Given the description of an element on the screen output the (x, y) to click on. 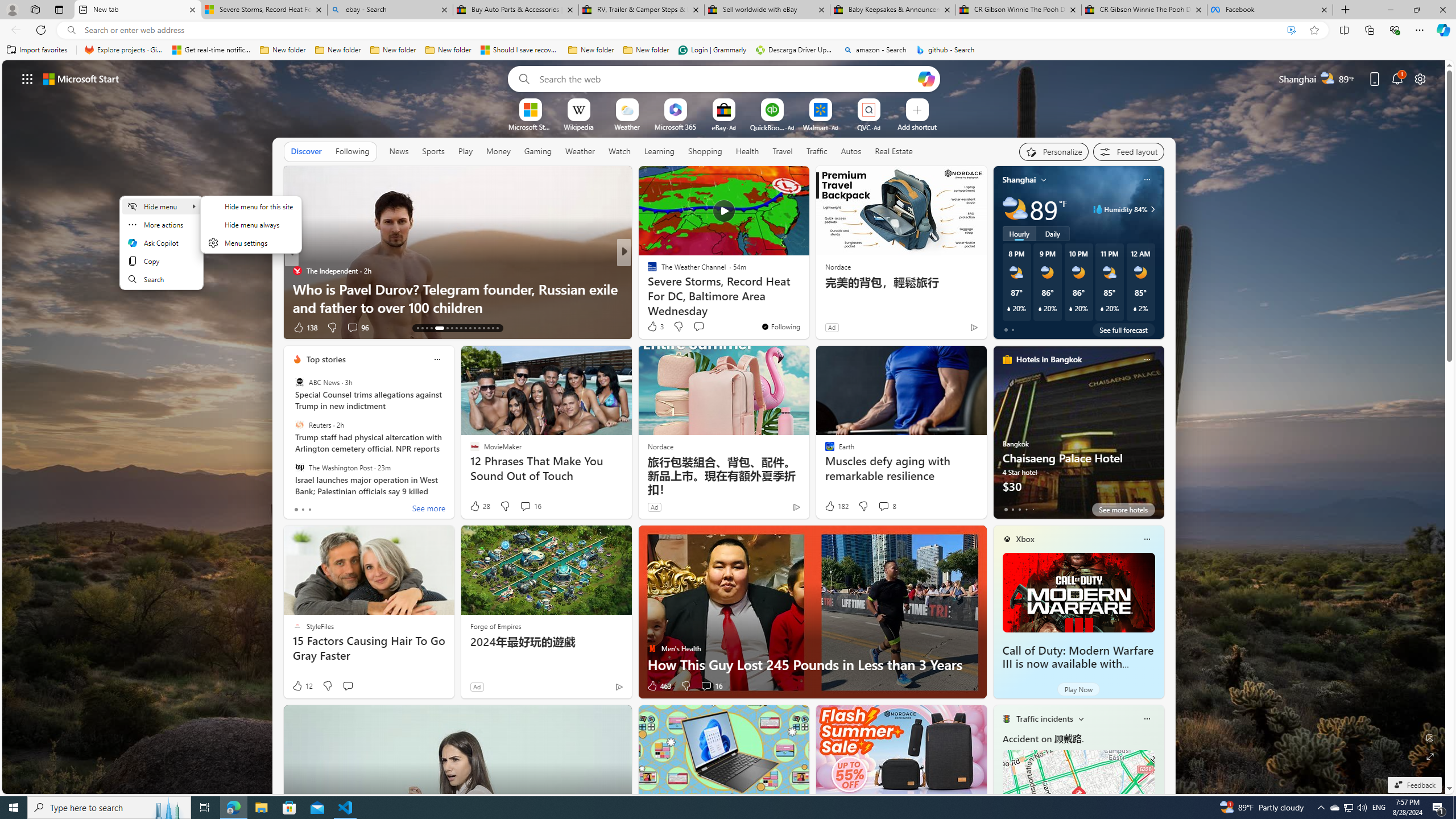
The History of the Windows Start Menu (807, 307)
Weather (580, 151)
Autos (850, 151)
Mini menu on text selection (160, 242)
How to get rid of body odor, according to medical experts (807, 298)
Simply More Time (647, 288)
32 Like (652, 327)
Real Estate (893, 151)
tab-3 (1025, 509)
Learning (658, 151)
My location (1043, 179)
hotels-header-icon (1006, 358)
